Given the description of an element on the screen output the (x, y) to click on. 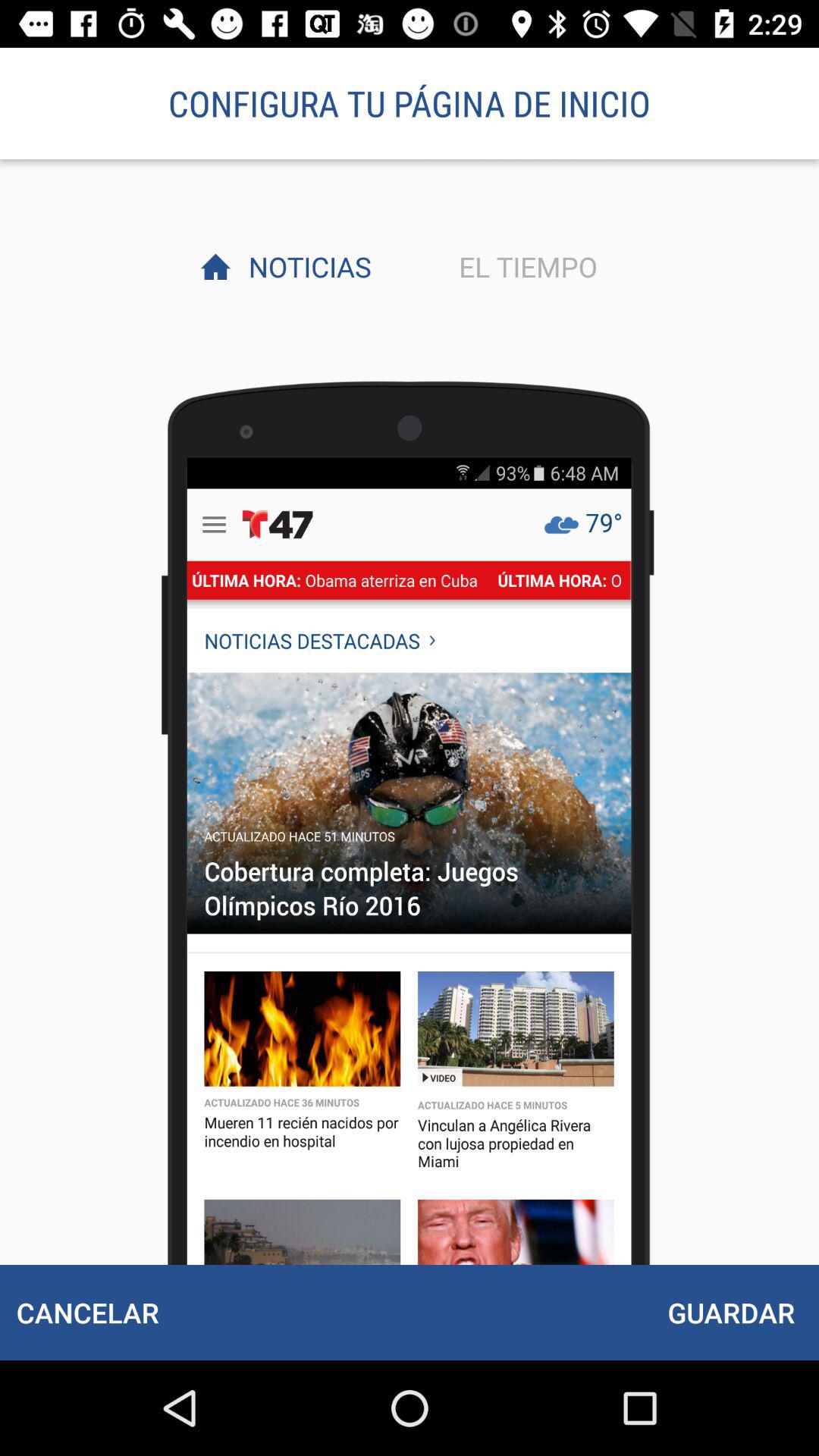
click the icon above noticias (409, 103)
